Given the description of an element on the screen output the (x, y) to click on. 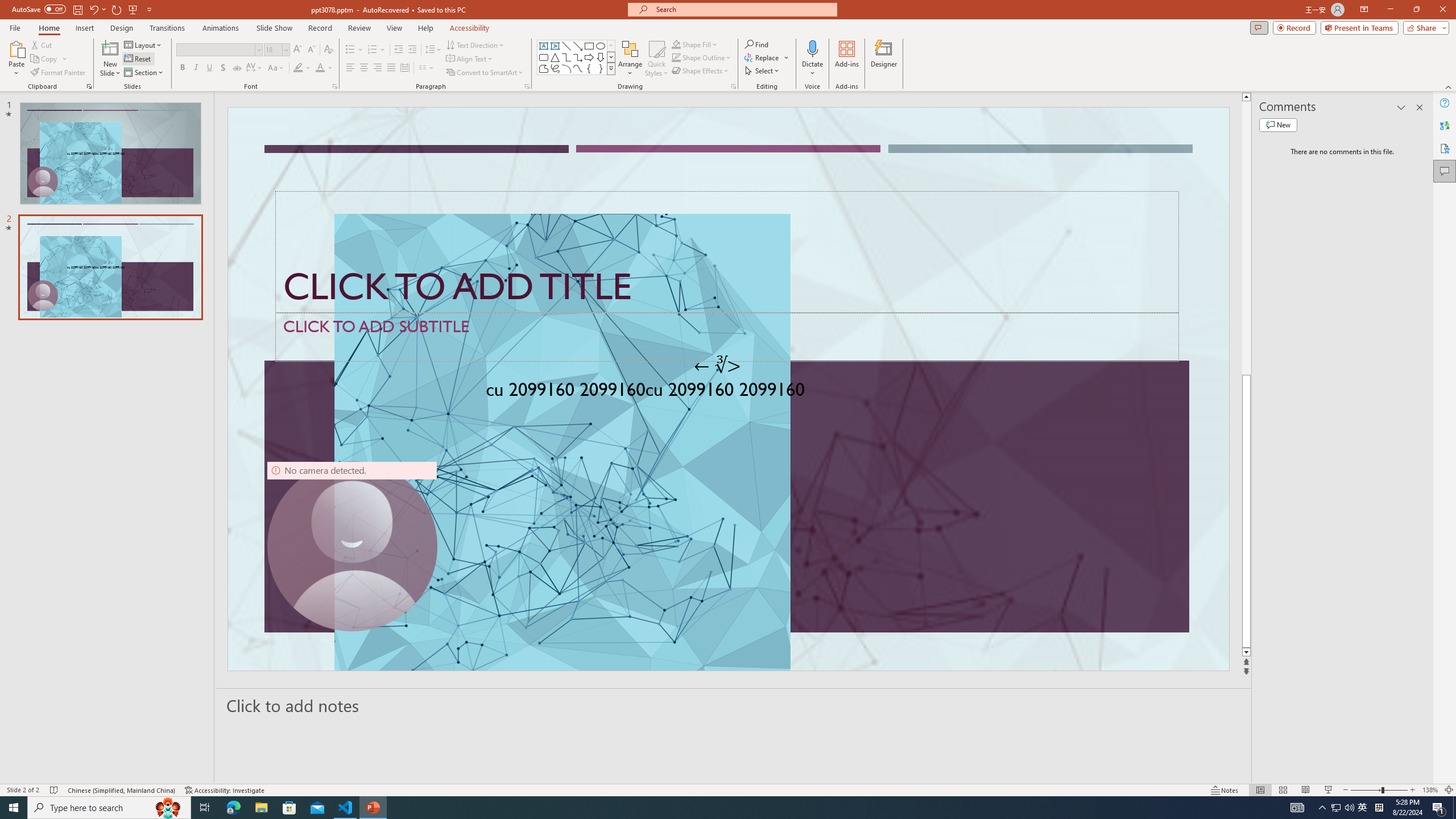
Shape Outline Green, Accent 1 (675, 56)
